Given the description of an element on the screen output the (x, y) to click on. 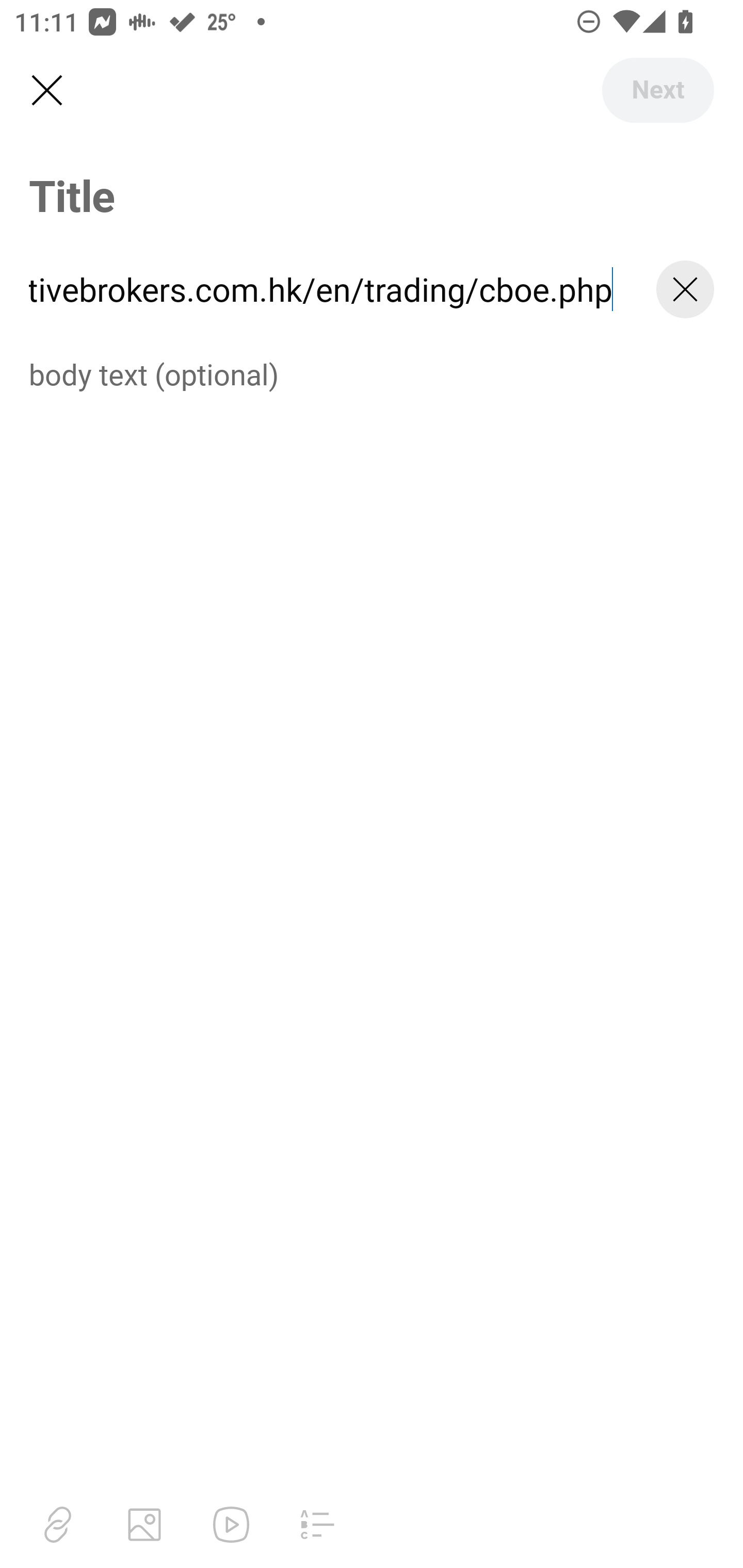
Close (46, 90)
Next (657, 90)
Post title (371, 195)
Remove link (685, 289)
body text (optional) (371, 373)
